Given the description of an element on the screen output the (x, y) to click on. 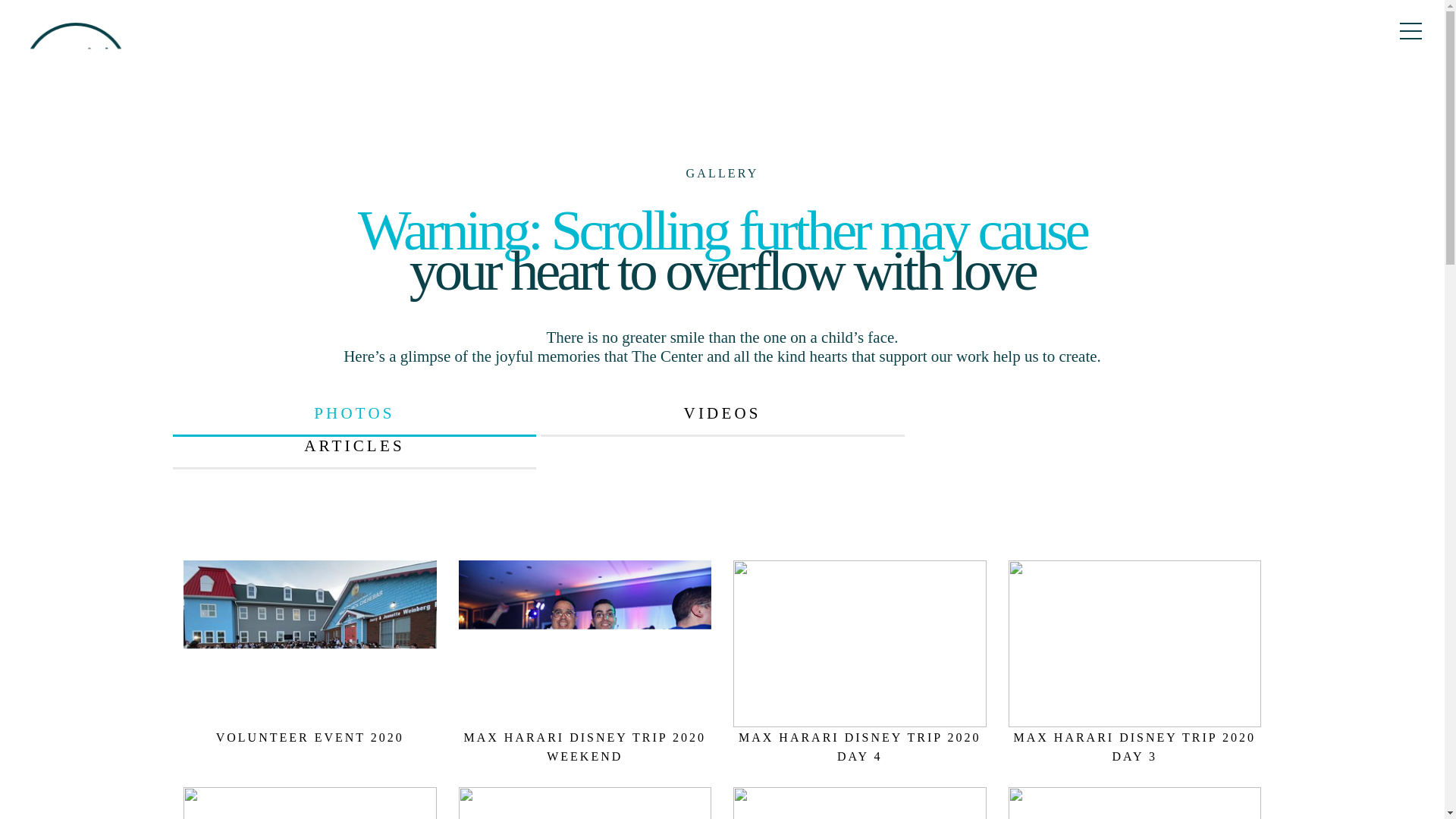
MAX HARARI DISNEY TRIP 2020 DAY 4 (859, 746)
ARTICLES (355, 452)
VOLUNTEER EVENT 2020 (309, 737)
VIDEOS (722, 420)
PHOTOS (355, 420)
MAX HARARI DISNEY TRIP 2020 DAY 3 (1134, 746)
MAX HARARI DISNEY TRIP 2020 WEEKEND (584, 746)
